Given the description of an element on the screen output the (x, y) to click on. 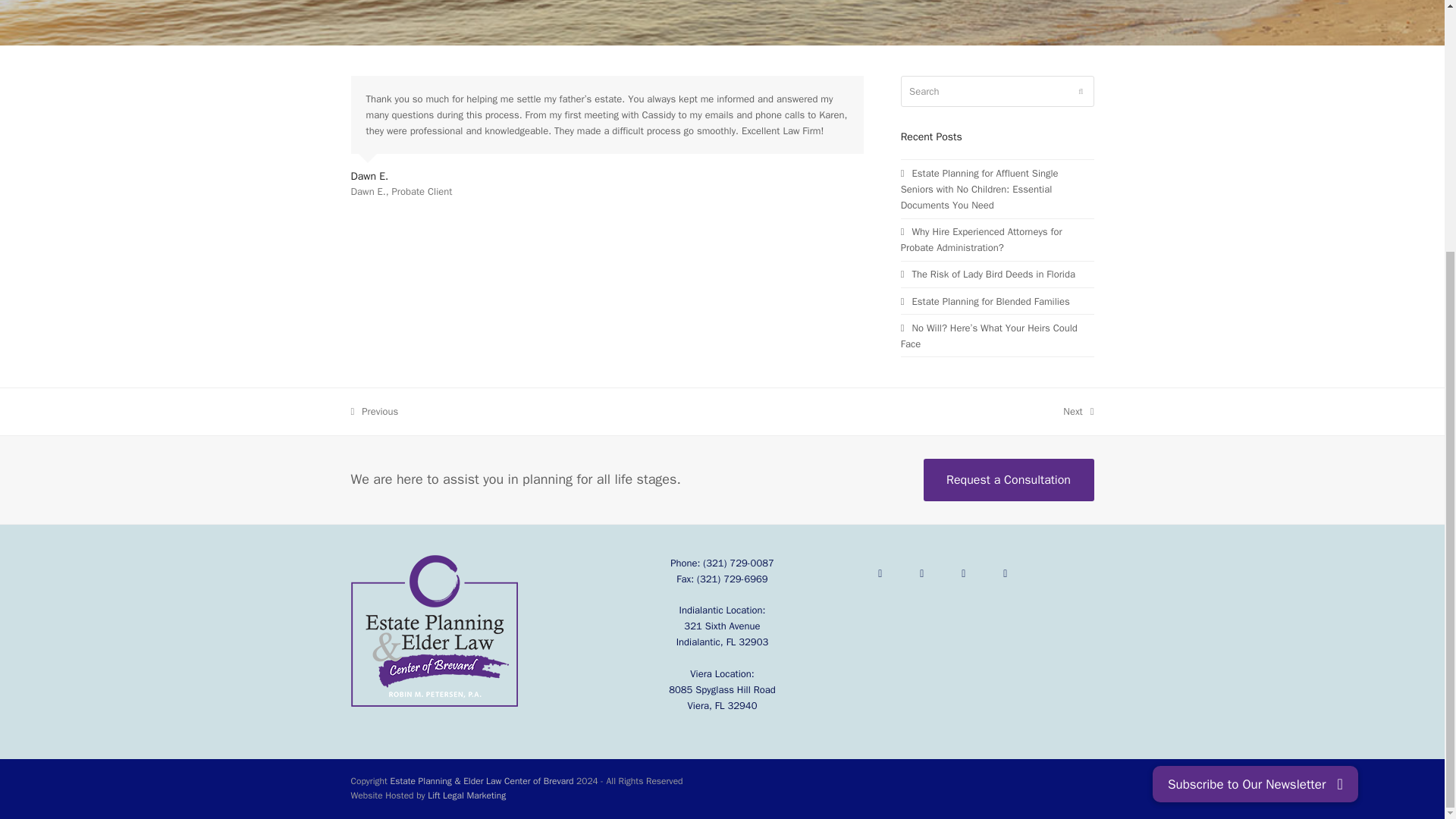
Why Hire Experienced Attorneys for Probate Administration? (981, 239)
YouTube (373, 411)
LinkedIn (1006, 573)
Estate Planning for Blended Families (963, 573)
The Risk of Lady Bird Deeds in Florida (985, 300)
Twitter (1077, 411)
Facebook (988, 273)
